Given the description of an element on the screen output the (x, y) to click on. 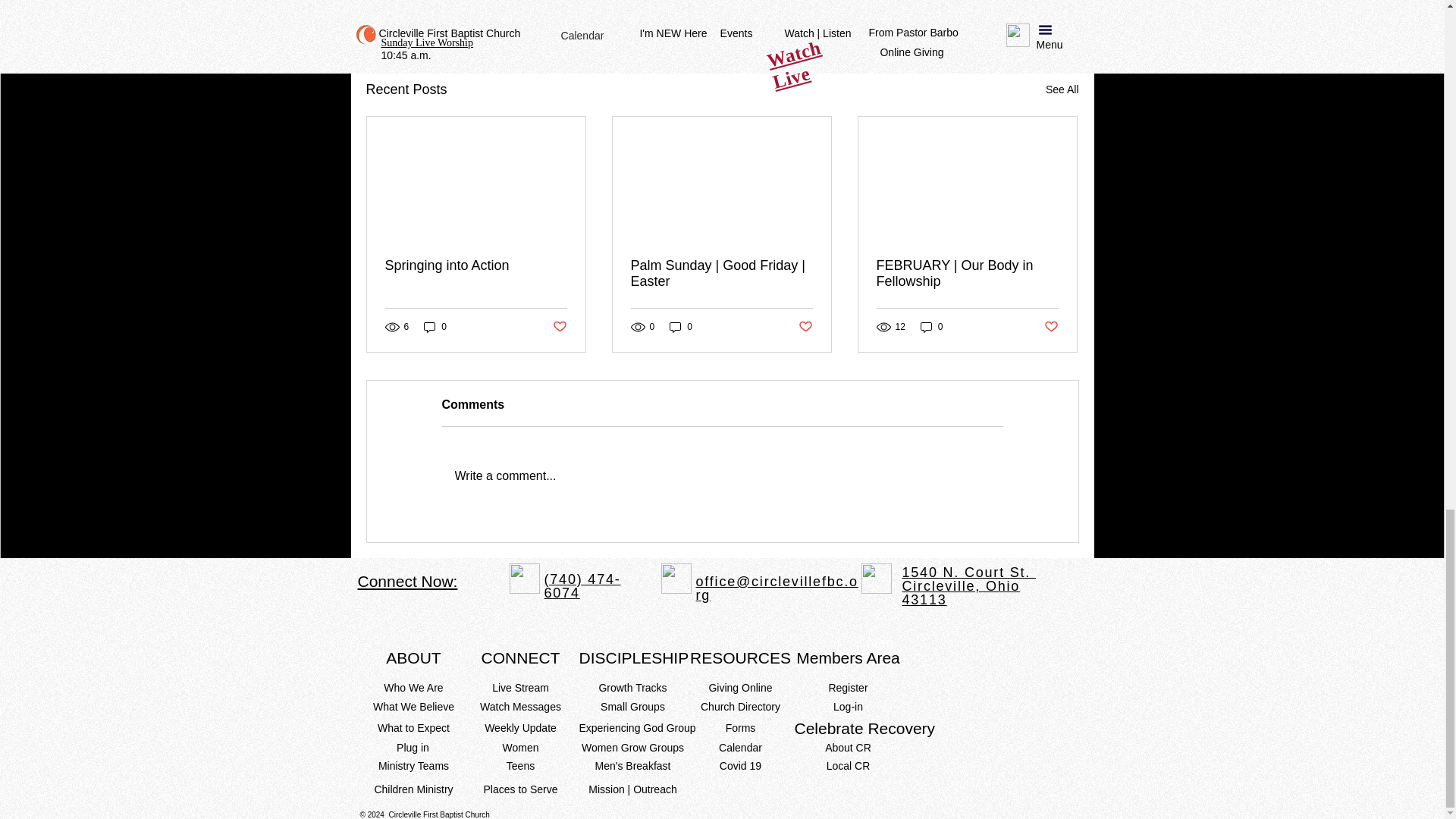
0 (681, 327)
Post not marked as liked (804, 326)
0 (435, 327)
0 (931, 327)
Springing into Action (476, 265)
Write a comment... (722, 476)
Post not marked as liked (558, 326)
Circleville, Ohio 43113 (961, 592)
1540 N. Court St.  (968, 572)
Post not marked as liked (1050, 326)
See All (1061, 89)
Post not marked as liked (995, 7)
